Given the description of an element on the screen output the (x, y) to click on. 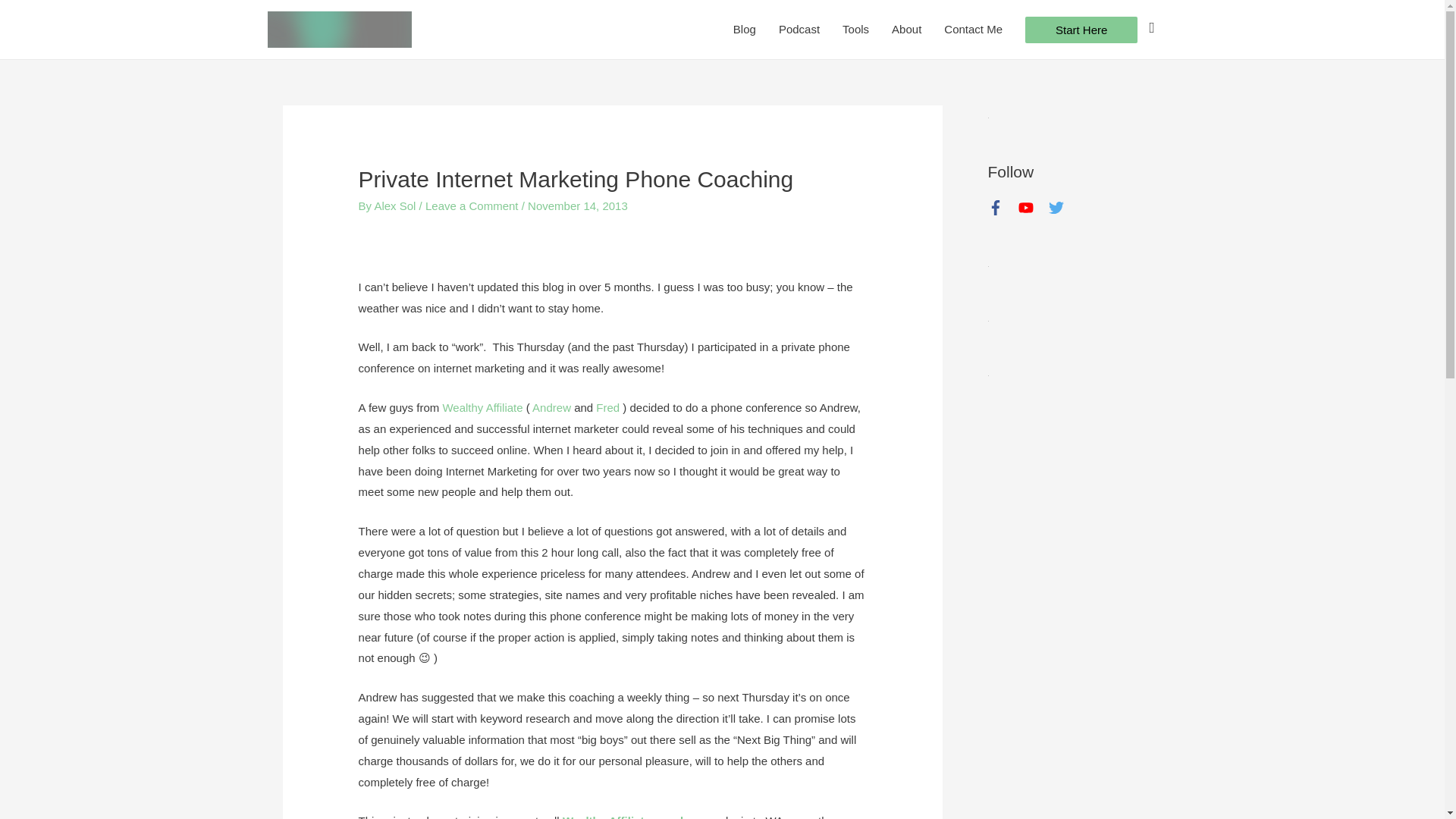
Wealthy Affiliate (482, 407)
Andrew (551, 407)
Wealthy Affiliate (482, 407)
Leave a Comment (471, 205)
Start Here (1081, 30)
View all posts by Alex Sol (396, 205)
Wealthy Affiliate (633, 816)
Start Here (1081, 29)
Contact Me (973, 29)
Fred (607, 407)
